Given the description of an element on the screen output the (x, y) to click on. 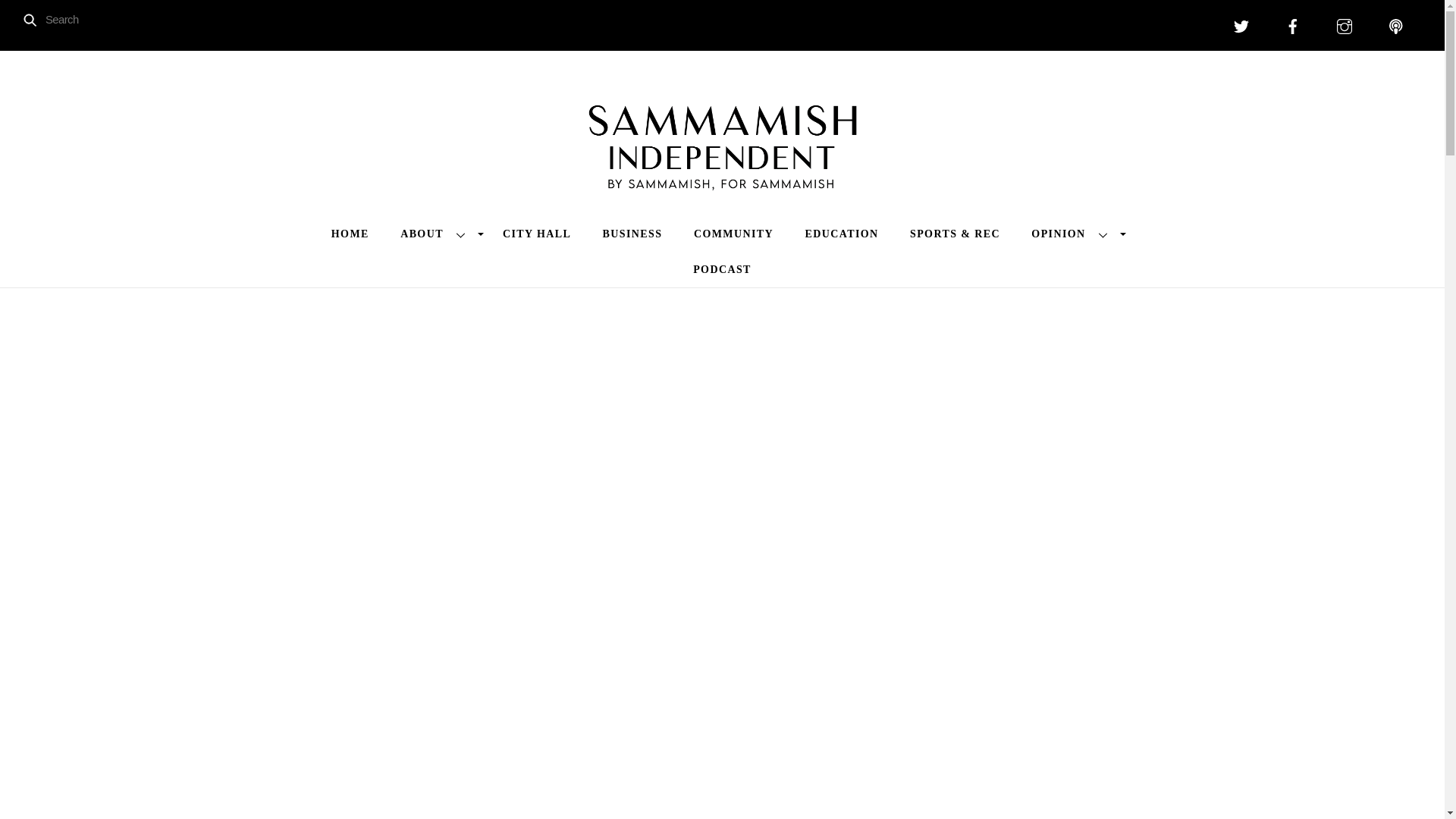
CITY HALL (537, 234)
Search (71, 18)
BUSINESS (631, 234)
HOME (349, 234)
COMMUNITY (732, 234)
Sammamish Independent (721, 171)
PODCAST (722, 268)
ABOUT (435, 234)
EDUCATION (841, 234)
OPINION (1072, 234)
